Given the description of an element on the screen output the (x, y) to click on. 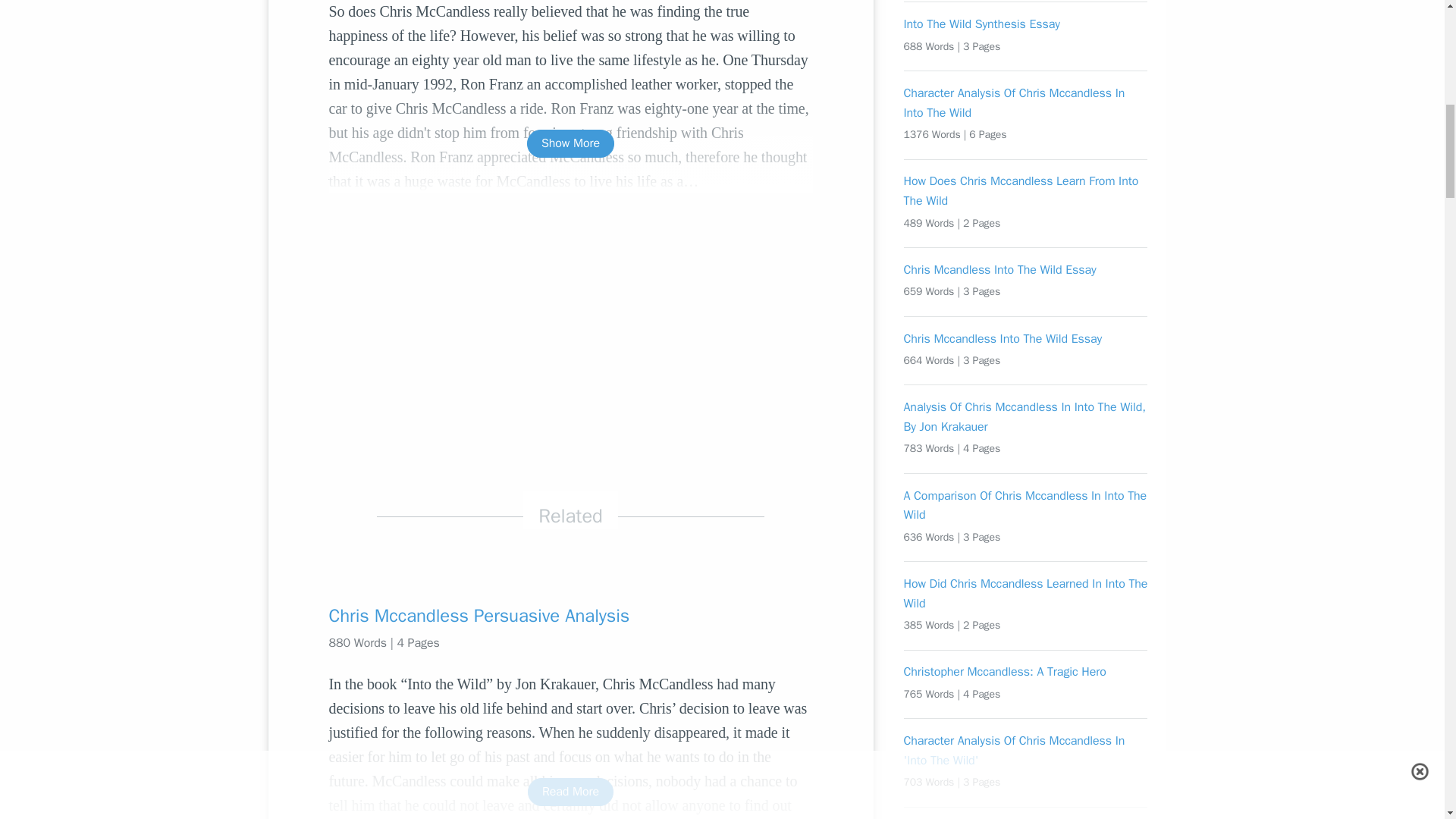
Chris Mccandless Persuasive Analysis (570, 615)
Show More (570, 143)
Read More (569, 791)
